Given the description of an element on the screen output the (x, y) to click on. 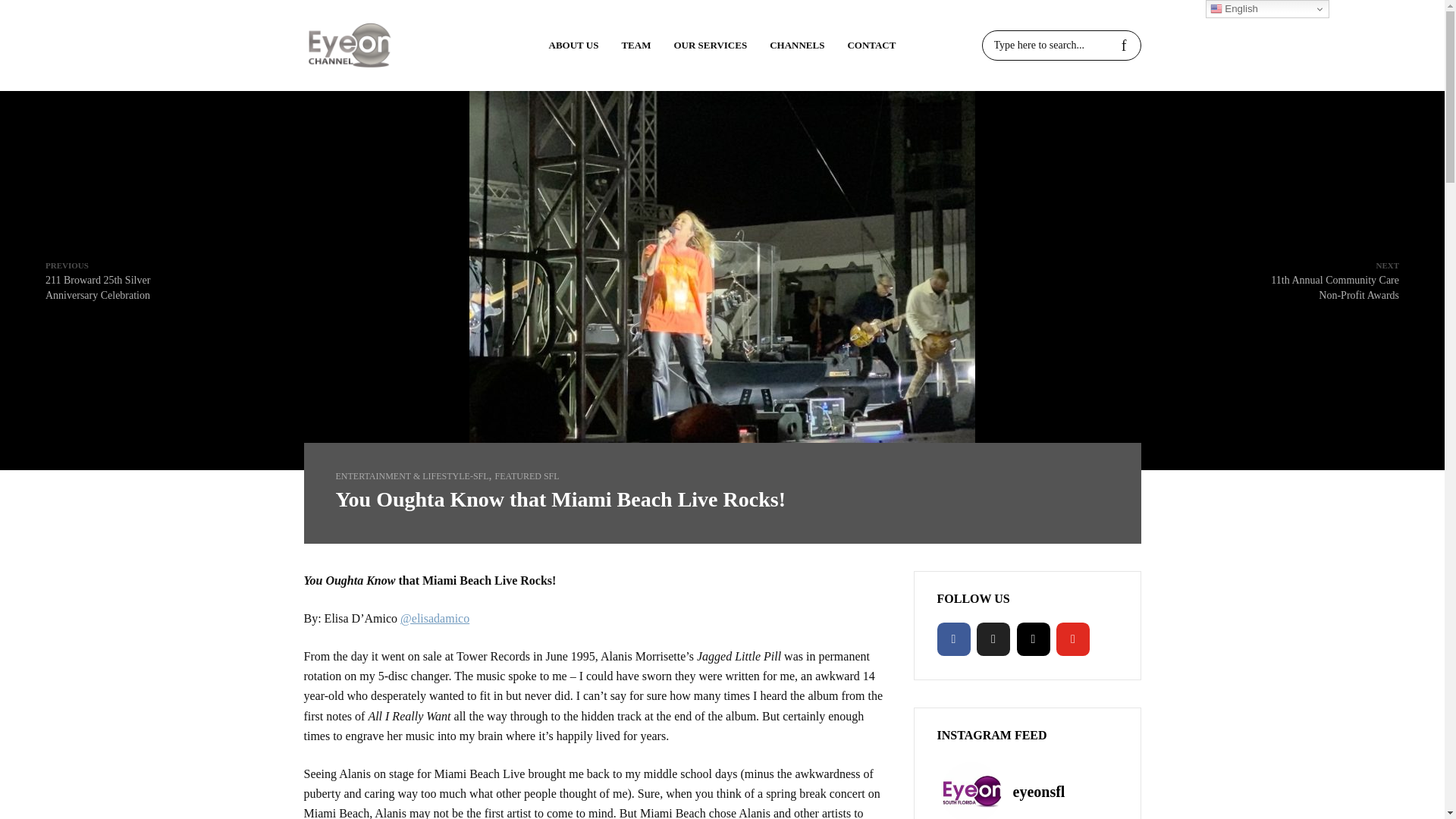
Facebook (954, 639)
OUR SERVICES (710, 45)
TEAM (636, 45)
Instagram (1032, 639)
YouTube (1073, 639)
CONTACT (871, 45)
ABOUT US (573, 45)
CHANNELS (796, 45)
